Given the description of an element on the screen output the (x, y) to click on. 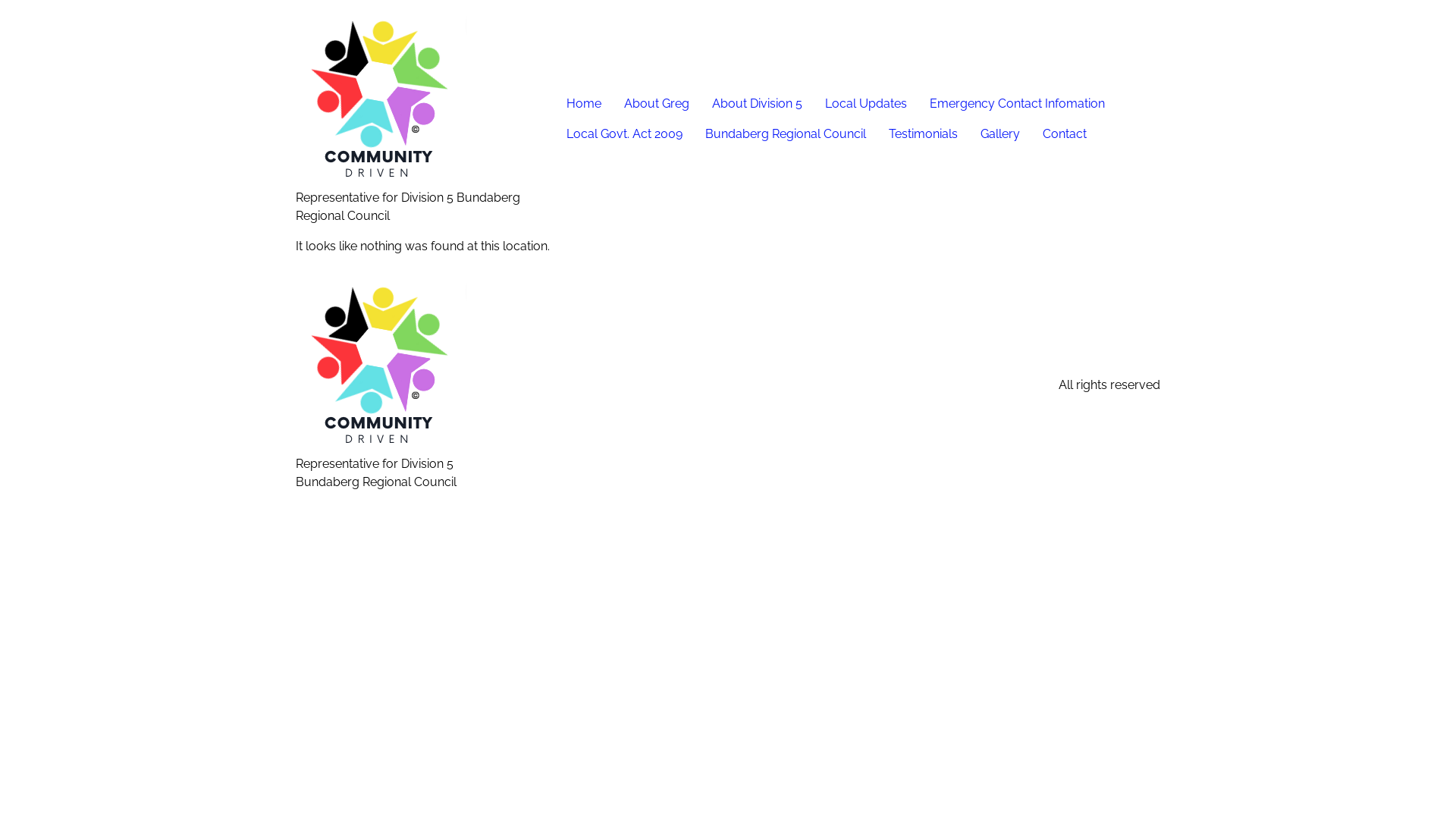
Bundaberg Regional Council Element type: text (785, 133)
Local Govt. Act 2009 Element type: text (624, 133)
Contact Element type: text (1064, 133)
Home Element type: text (583, 102)
Gallery Element type: text (1000, 133)
Emergency Contact Infomation Element type: text (1017, 102)
About Division 5 Element type: text (756, 102)
Testimonials Element type: text (923, 133)
About Greg Element type: text (656, 102)
Local Updates Element type: text (865, 102)
